Given the description of an element on the screen output the (x, y) to click on. 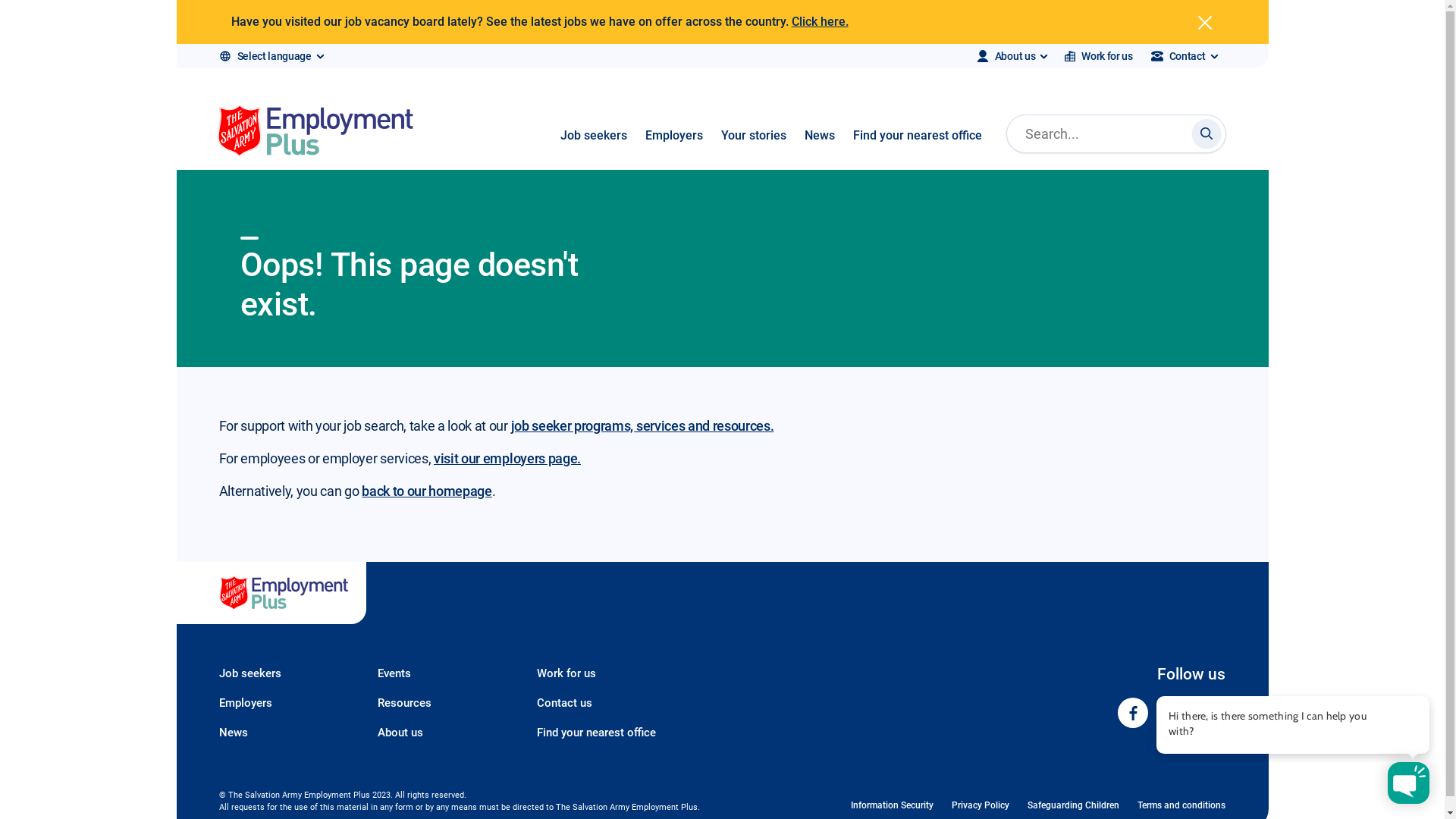
News Element type: text (285, 731)
Find your nearest office Element type: text (603, 731)
Find your nearest office Element type: text (916, 147)
back to our homepage Element type: text (426, 490)
Contact us Element type: text (603, 703)
Information Security Element type: text (891, 805)
job seeker programs, services and resources. Element type: text (642, 425)
Your stories Element type: text (752, 147)
Privacy Policy Element type: text (980, 805)
Terms and conditions Element type: text (1181, 805)
Click here. Element type: text (819, 21)
Safeguarding Children Element type: text (1073, 805)
Linkedin Element type: text (1172, 712)
Salvation Army Employment Plus Element type: text (270, 592)
Salvation Army Employment Plus Element type: text (314, 133)
Youtube Element type: text (1211, 712)
Facebook Element type: text (1132, 712)
Search Employment Plus Element type: text (1206, 133)
Job seekers Element type: text (592, 147)
Resources Element type: text (444, 703)
About us Element type: text (444, 731)
Employers Element type: text (285, 703)
Work for us Element type: text (1098, 55)
Work for us Element type: text (603, 673)
News Element type: text (818, 147)
Job seekers Element type: text (285, 673)
Employers Element type: text (673, 147)
Employment Plus Element type: hover (1292, 725)
Events Element type: text (444, 673)
visit our employers page. Element type: text (506, 458)
